Given the description of an element on the screen output the (x, y) to click on. 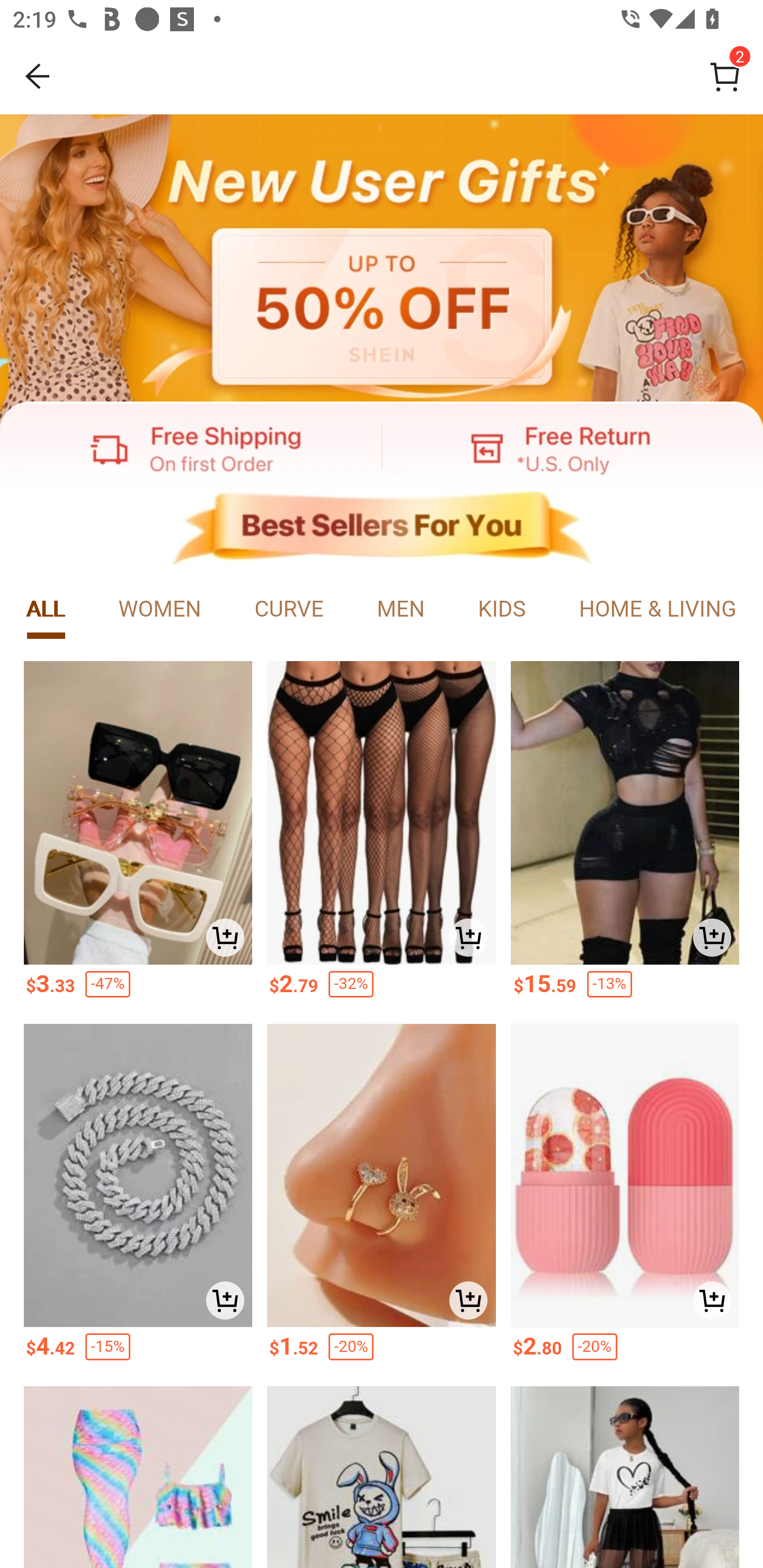
BACK (38, 75)
Cart 2 (724, 75)
javascript:; (381, 258)
javascript:; (190, 446)
javascript:; (572, 446)
javascript:; (381, 528)
tab item (46, 609)
tab item (159, 609)
tab item (288, 609)
tab item (400, 609)
tab item (501, 609)
tab item (657, 609)
3pairs Women Square Frame Fashion Glasses (137, 812)
Ripped Crop Knit Top & Shorts Without Lingerie (625, 812)
$3.33 -47% (137, 989)
$2.79 -32% (381, 989)
$15.59 -13% (625, 989)
Rhinestone Chain Necklace (137, 1175)
1pc Silicone Facial Massage Ice Tray (625, 1175)
$4.42 -15% (137, 1352)
$1.52 -20% (381, 1352)
$2.80 -20% (625, 1352)
